Given the description of an element on the screen output the (x, y) to click on. 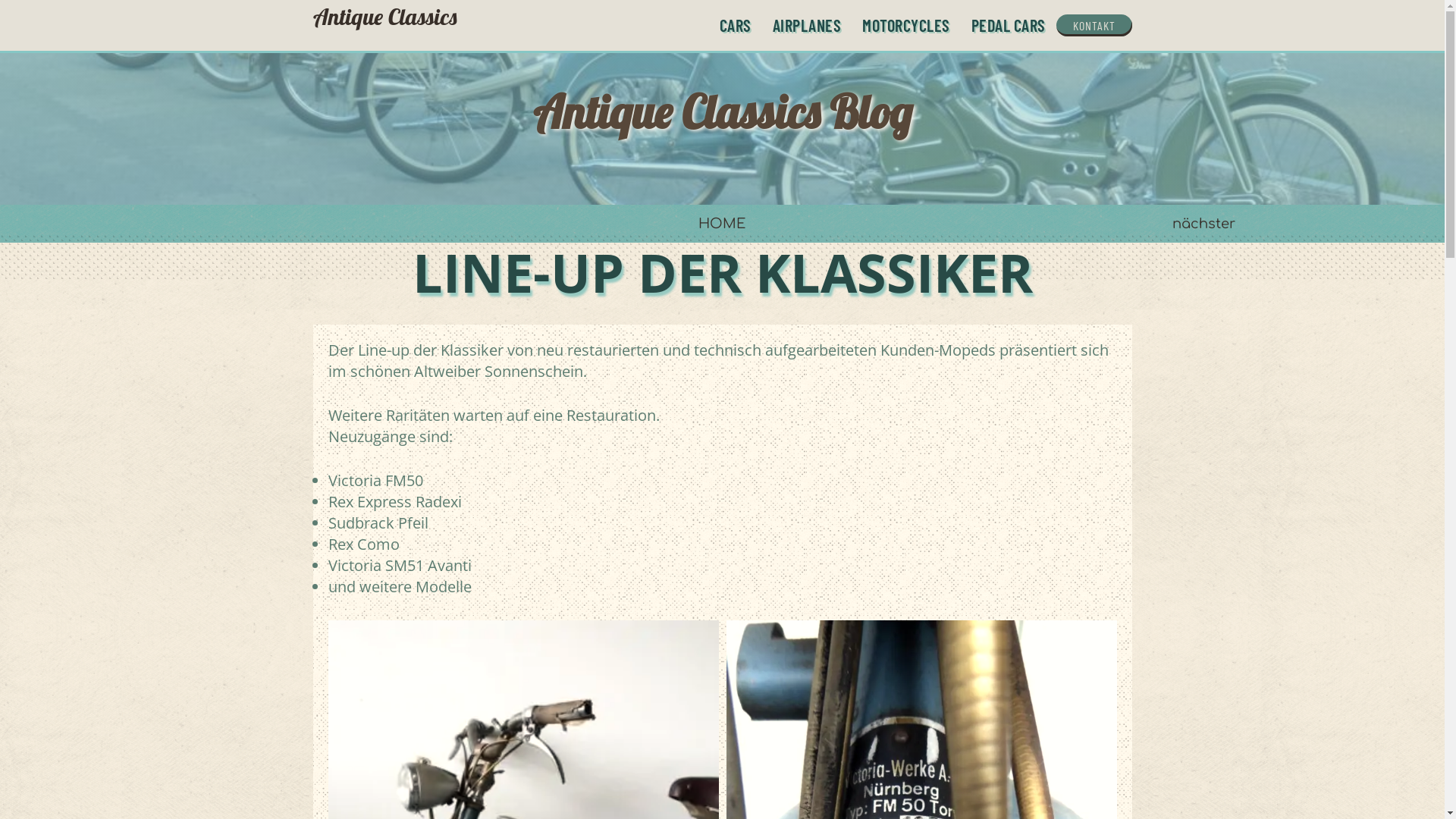
AIRPLANES Element type: text (806, 25)
CARS Element type: text (734, 25)
PEDAL CARS Element type: text (1007, 25)
KONTAKT Element type: text (1093, 25)
MOTORCYCLES Element type: text (905, 25)
HOME Element type: text (721, 224)
Antique Classics Element type: text (383, 25)
